Given the description of an element on the screen output the (x, y) to click on. 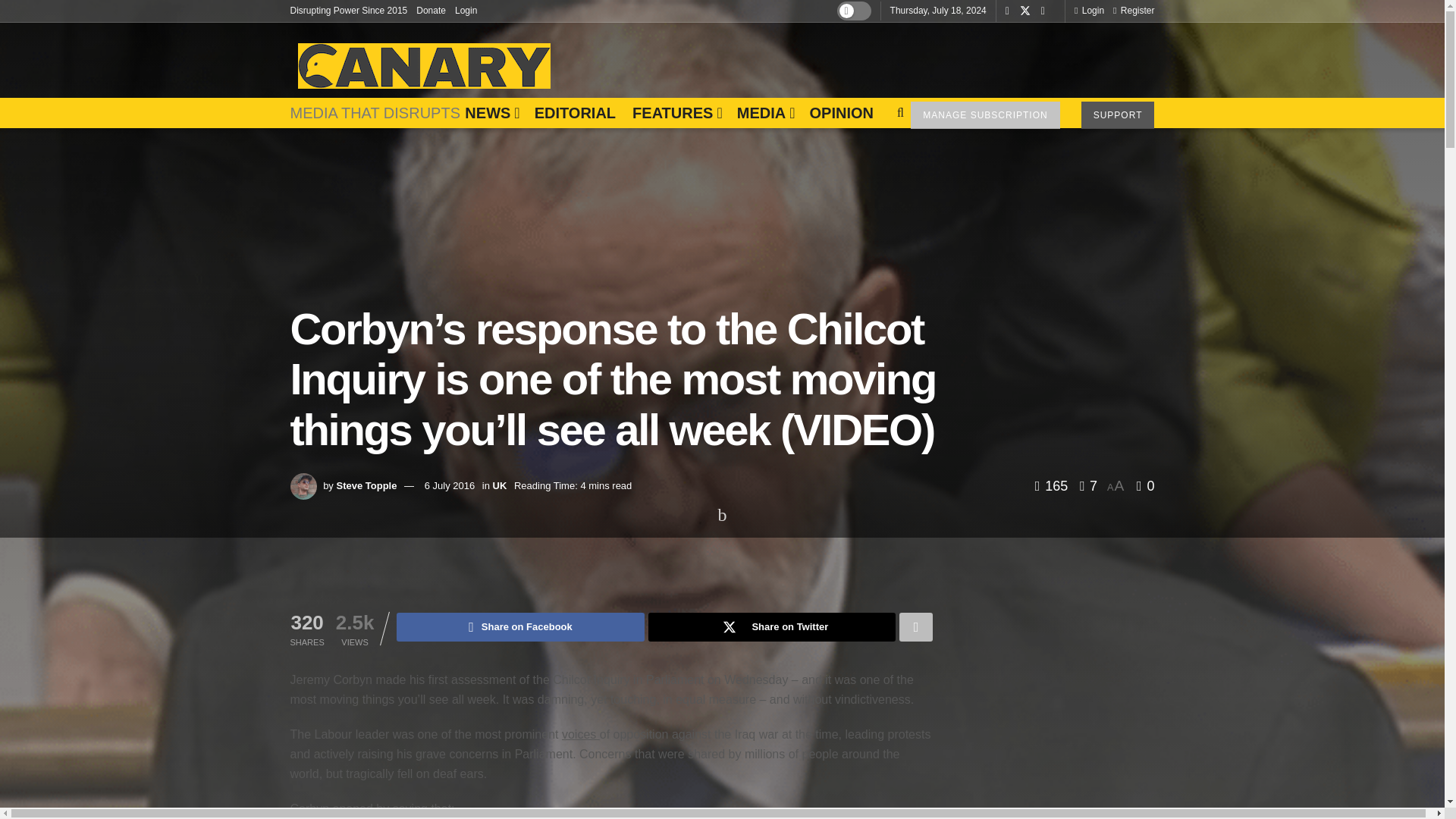
Register (1133, 11)
Advertisement (878, 56)
Login (1088, 11)
FEATURES (675, 112)
MEDIA (764, 112)
EDITORIAL (574, 112)
Login (465, 11)
OPINION (840, 112)
NEWS (490, 112)
Donate (430, 11)
Disrupting Power Since 2015 (348, 11)
MANAGE SUBSCRIPTION (985, 114)
SUPPORT (1117, 114)
